Given the description of an element on the screen output the (x, y) to click on. 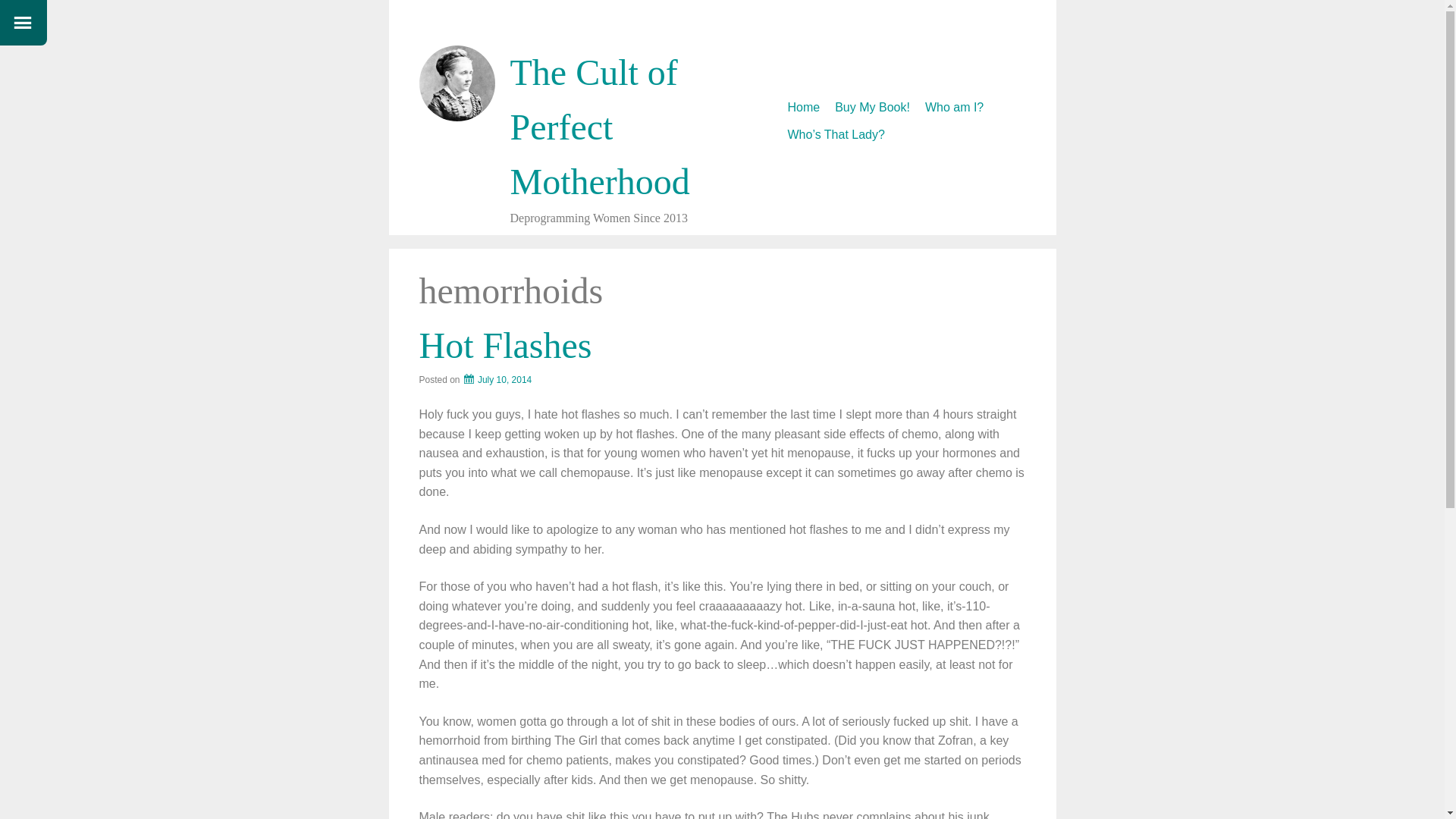
Hot Flashes (505, 345)
Home (803, 107)
The Cult of Perfect Motherhood (598, 126)
Buy My Book! (871, 107)
Who am I? (954, 107)
July 10, 2014 (497, 379)
Skip to content (787, 98)
